Given the description of an element on the screen output the (x, y) to click on. 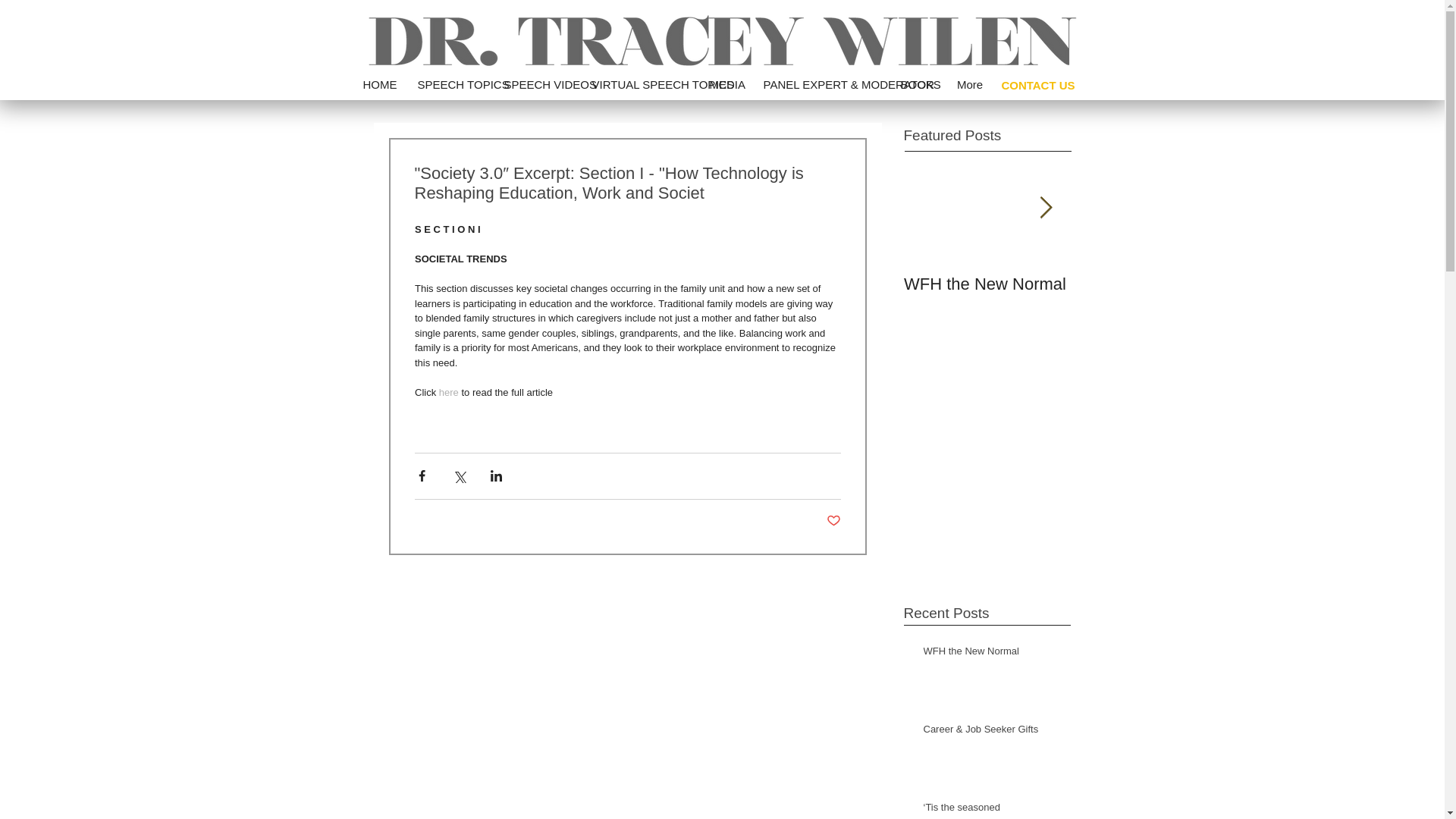
CONTACT US (1037, 84)
here (448, 392)
WFH the New Normal (987, 284)
SPEECH TOPICS (449, 85)
MEDIA (724, 85)
VIRTUAL SPEECH TOPICS (639, 85)
HOME (379, 85)
WFH the New Normal (992, 654)
SPEECH VIDEOS (536, 85)
BOOKS (916, 85)
Post not marked as liked (834, 520)
